Given the description of an element on the screen output the (x, y) to click on. 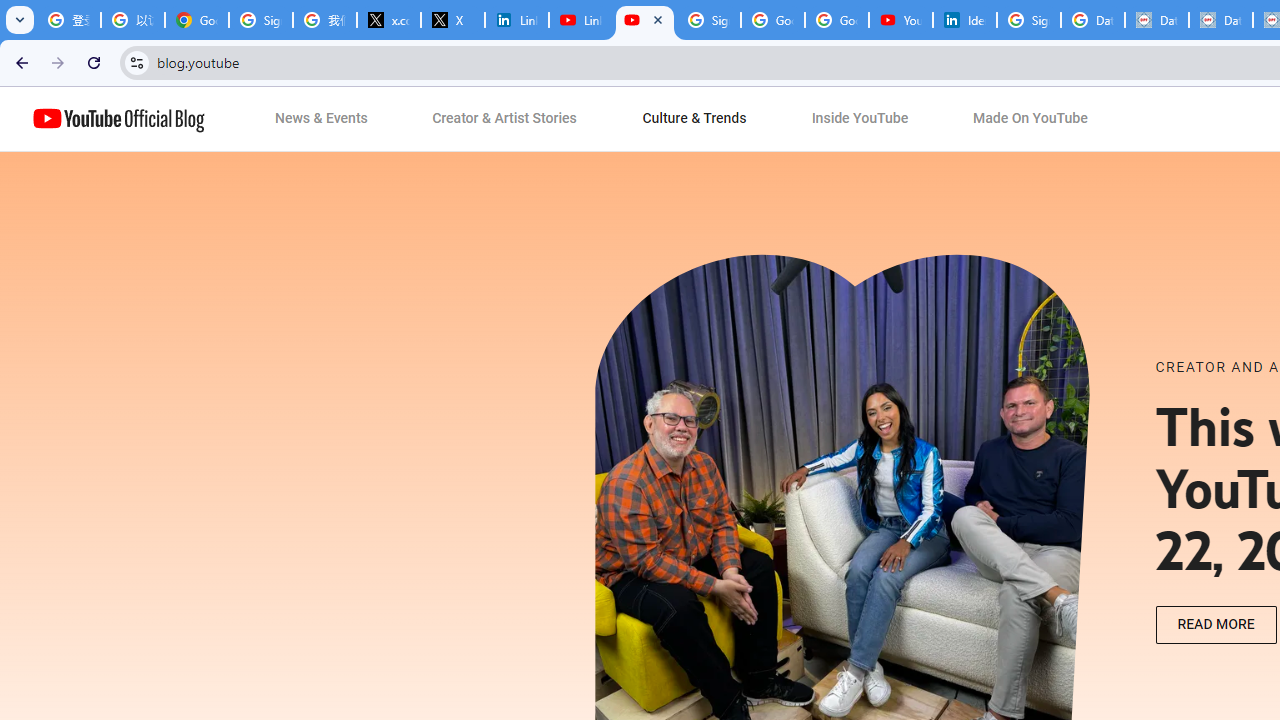
Sign in - Google Accounts (1029, 20)
Sign in - Google Accounts (261, 20)
Sign in - Google Accounts (709, 20)
LinkedIn - YouTube (581, 20)
Creator & Artist Stories (505, 119)
